Given the description of an element on the screen output the (x, y) to click on. 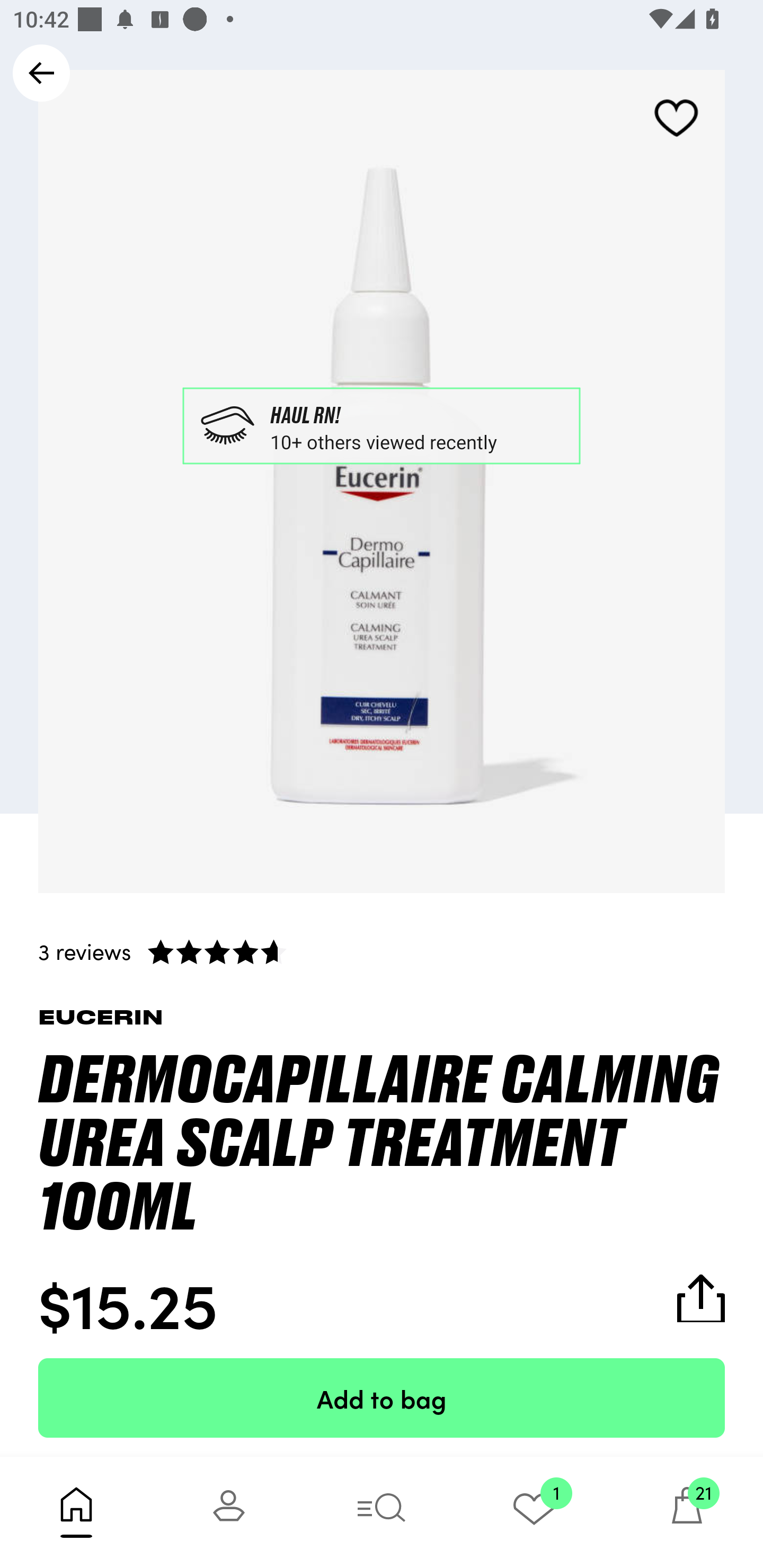
3 reviews (381, 950)
Add to bag (381, 1397)
1 (533, 1512)
21 (686, 1512)
